Given the description of an element on the screen output the (x, y) to click on. 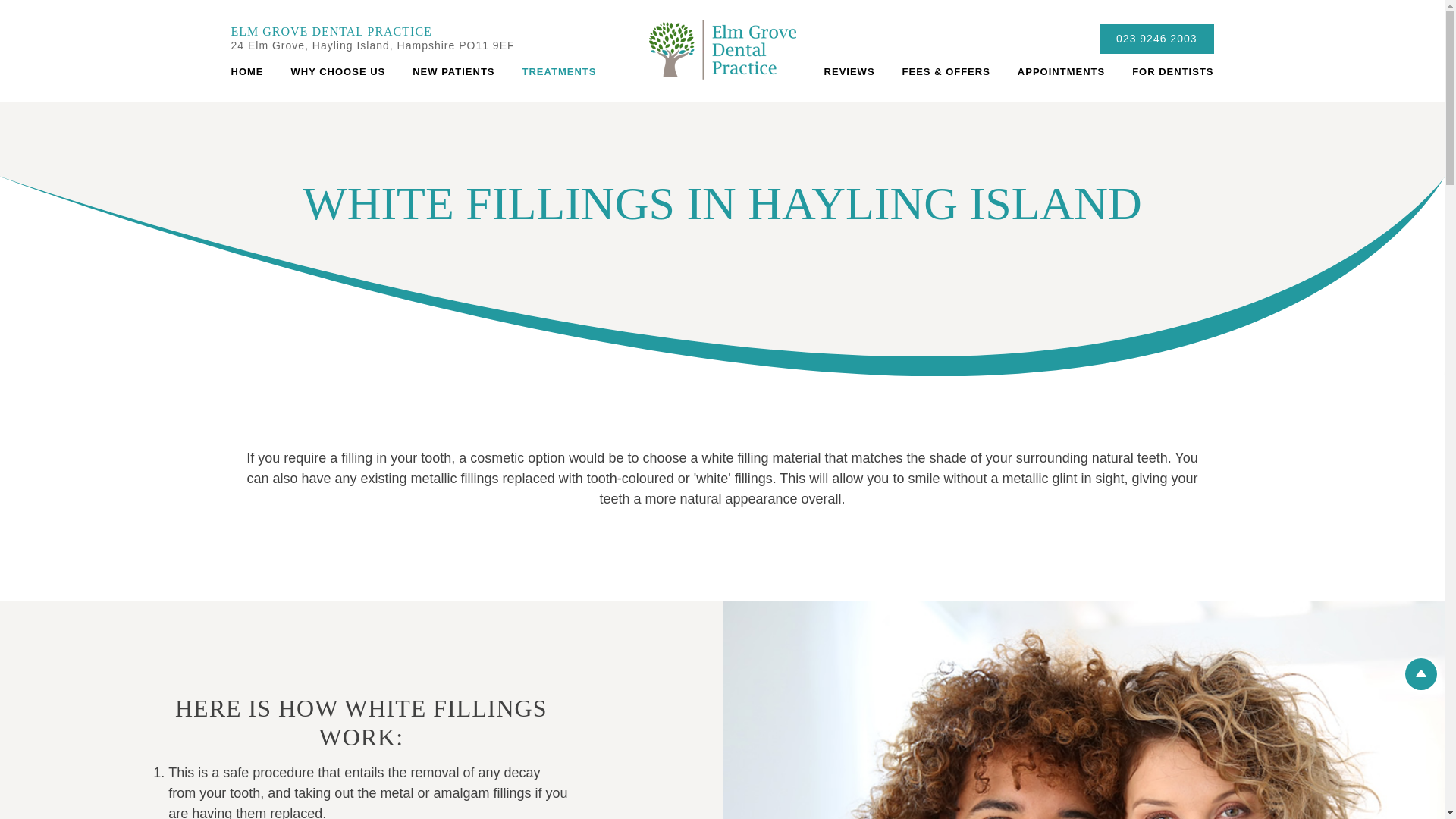
NEW PATIENTS (453, 72)
For Dentists (1165, 72)
WHY CHOOSE US (338, 72)
Home (253, 72)
Appointments (1061, 72)
Reviews (849, 72)
HOME (253, 72)
New Patients (453, 72)
TREATMENTS (559, 72)
REVIEWS (849, 72)
